Given the description of an element on the screen output the (x, y) to click on. 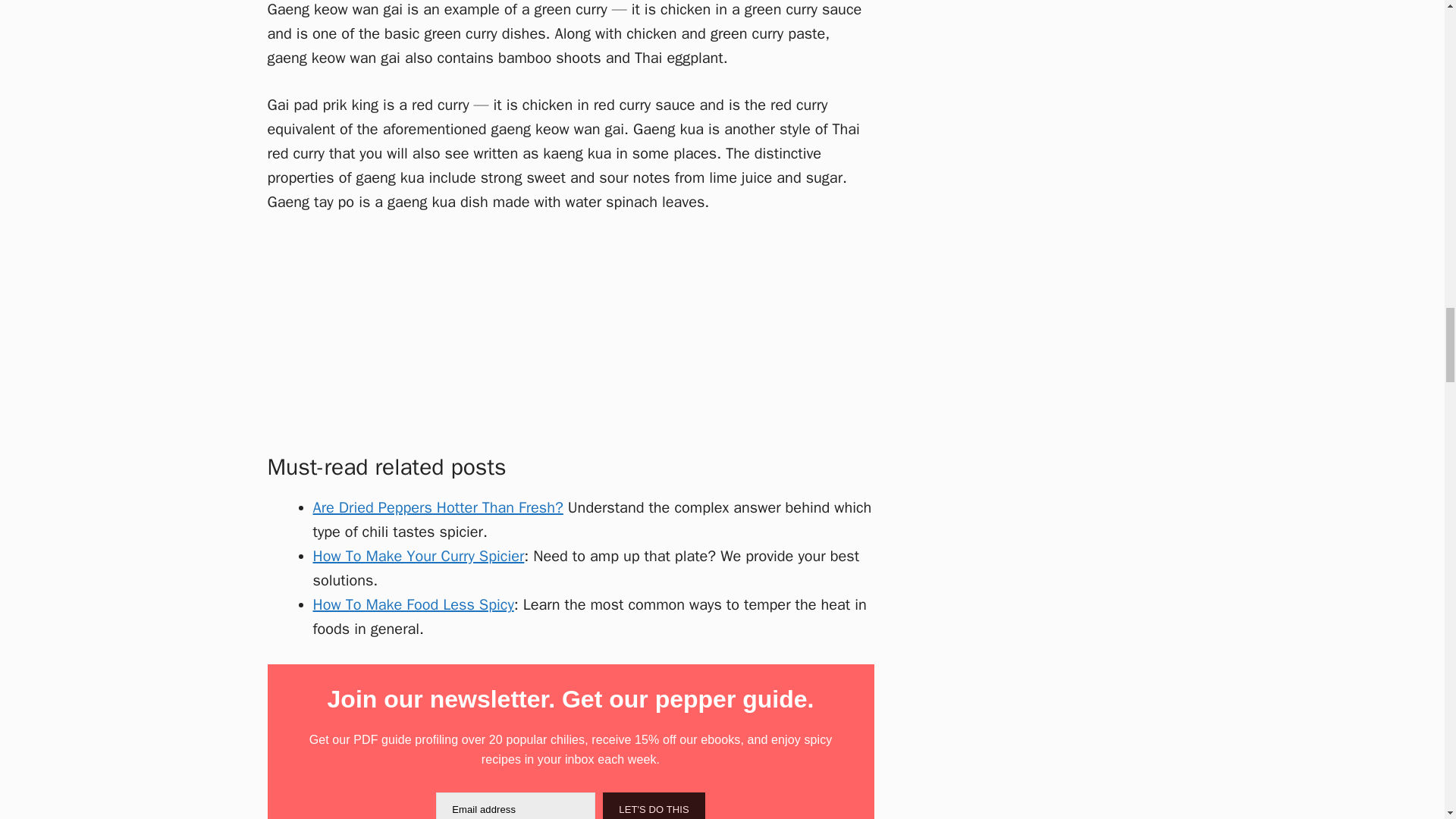
Are Dried Peppers Hotter Than Fresh? (437, 506)
How To Make Food Less Spicy (413, 604)
How To Make Your Curry Spicier (418, 556)
LET'S DO THIS (653, 805)
